Given the description of an element on the screen output the (x, y) to click on. 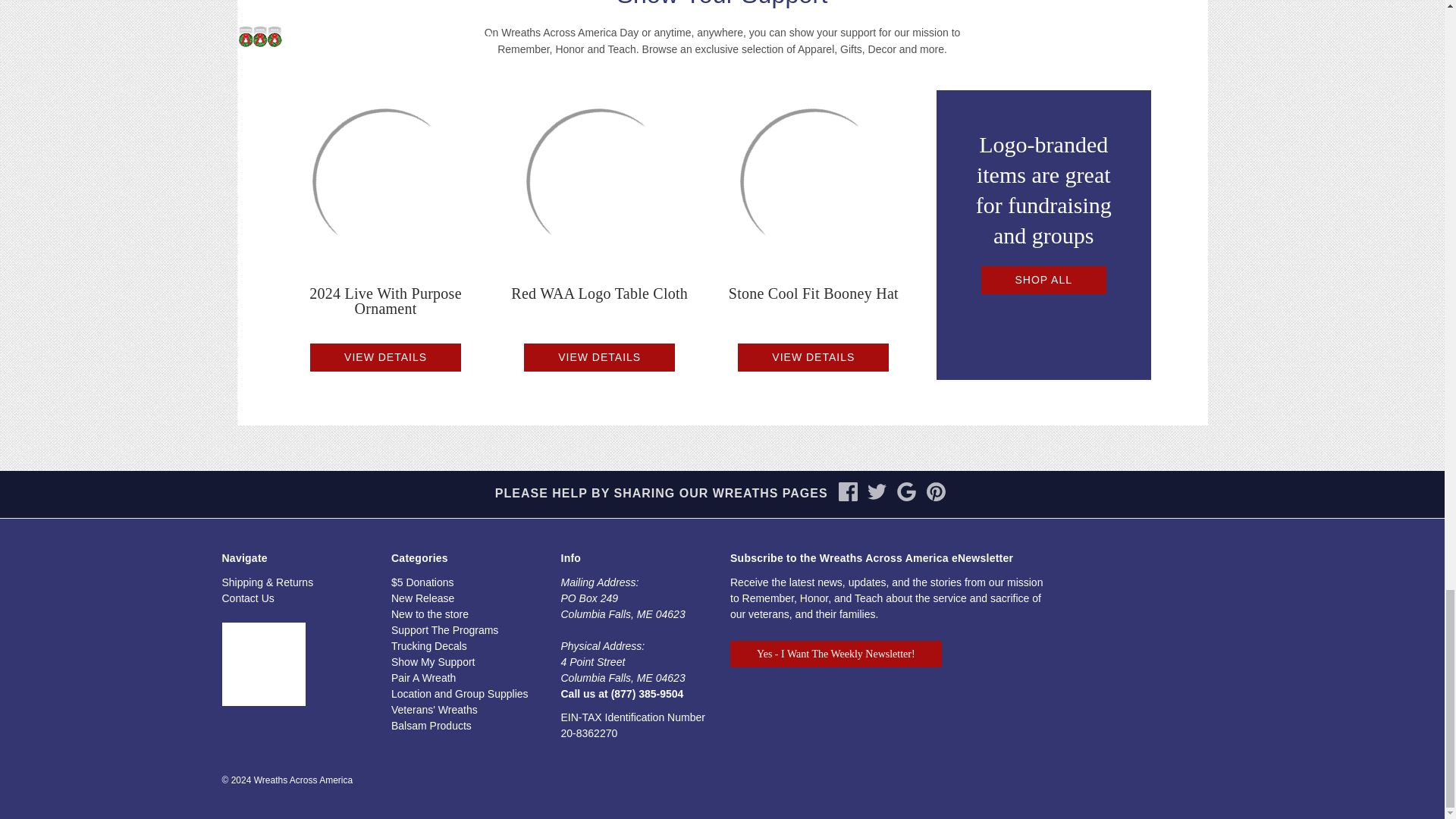
Pinterest icon (935, 491)
2024 Live With Purpose Ornament (384, 181)
Logo-branded items are great for fundraising and groups (1043, 189)
Google icon (906, 497)
Facebook icon (847, 497)
Twitter icon (876, 491)
Red WAA Logo Table Cloth (599, 293)
Stone Cool Fit Booney Hat (813, 293)
New Release (422, 598)
Pinterest icon (936, 497)
Twitter icon (876, 497)
2024 Live With Purpose Ornament (385, 300)
Stone Cool Fit Booney Hat (812, 181)
Contact Us (247, 598)
Facebook icon (847, 491)
